Given the description of an element on the screen output the (x, y) to click on. 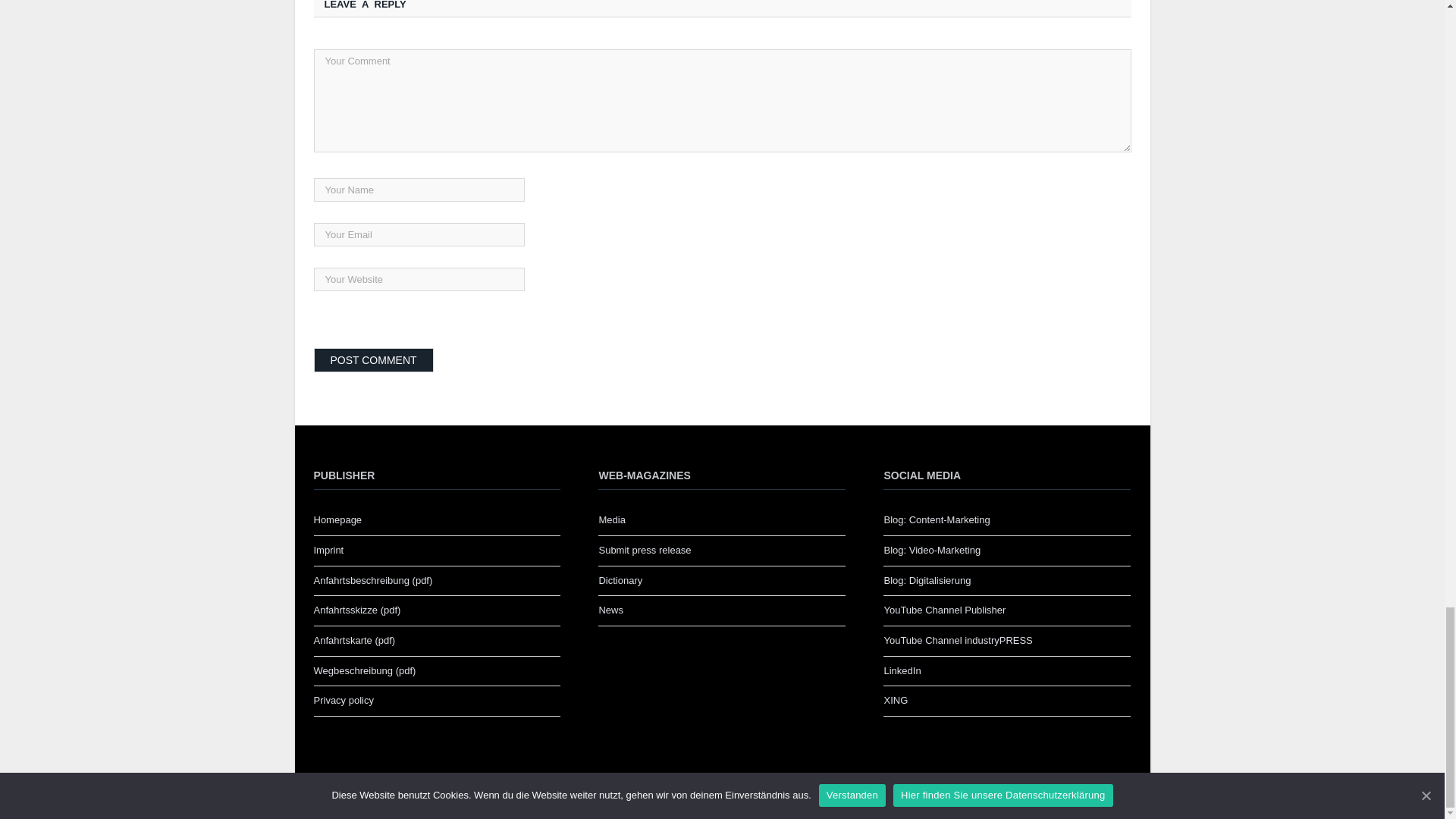
Post Comment (373, 360)
